Given the description of an element on the screen output the (x, y) to click on. 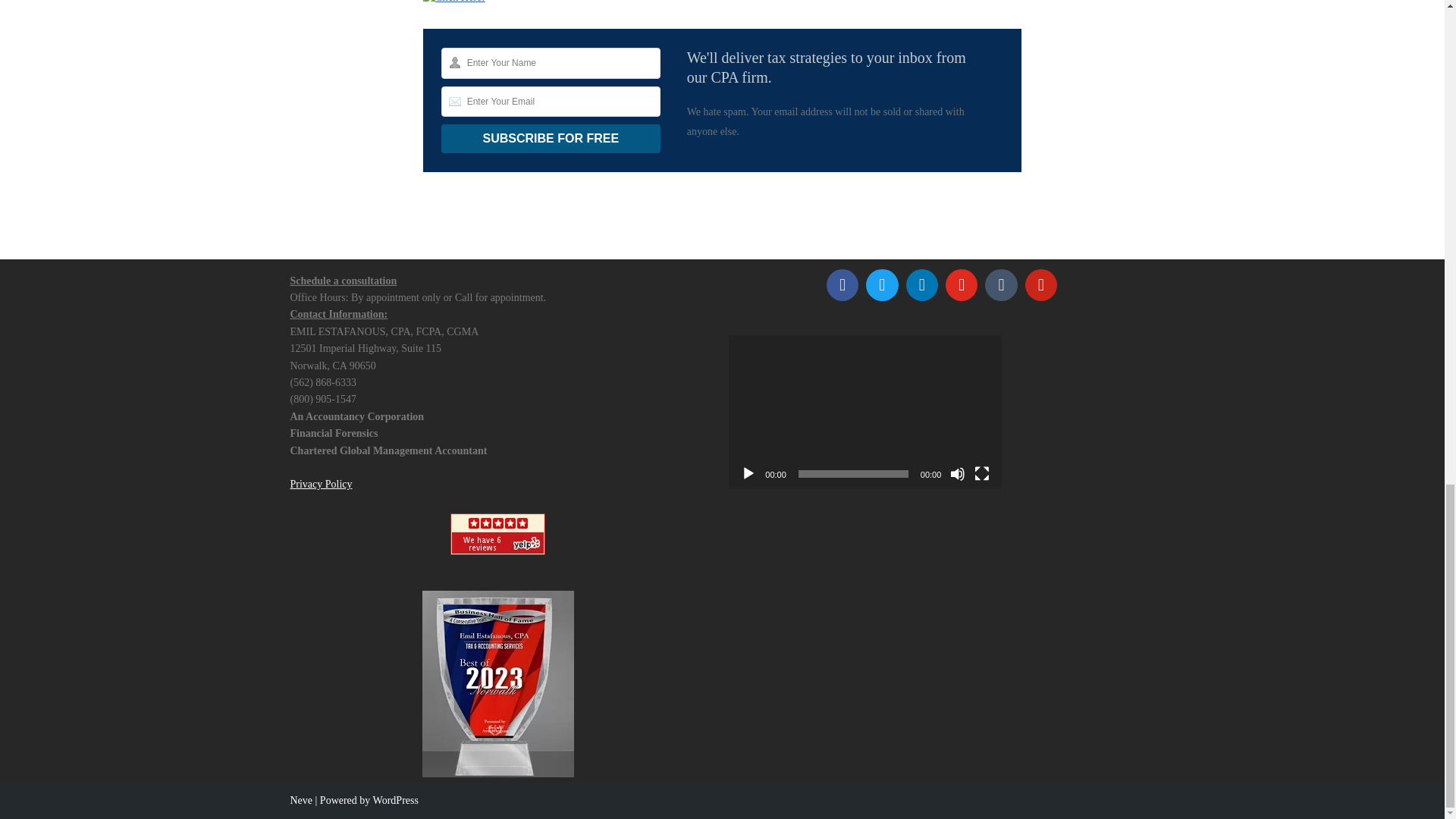
SUBSCRIBE FOR FREE (551, 138)
Facebook (841, 284)
Play (748, 473)
Mute (957, 473)
Fullscreen (982, 473)
Default Label (1000, 284)
Default Label (922, 284)
Default Label (1041, 284)
Instagram (961, 284)
X (881, 284)
